Given the description of an element on the screen output the (x, y) to click on. 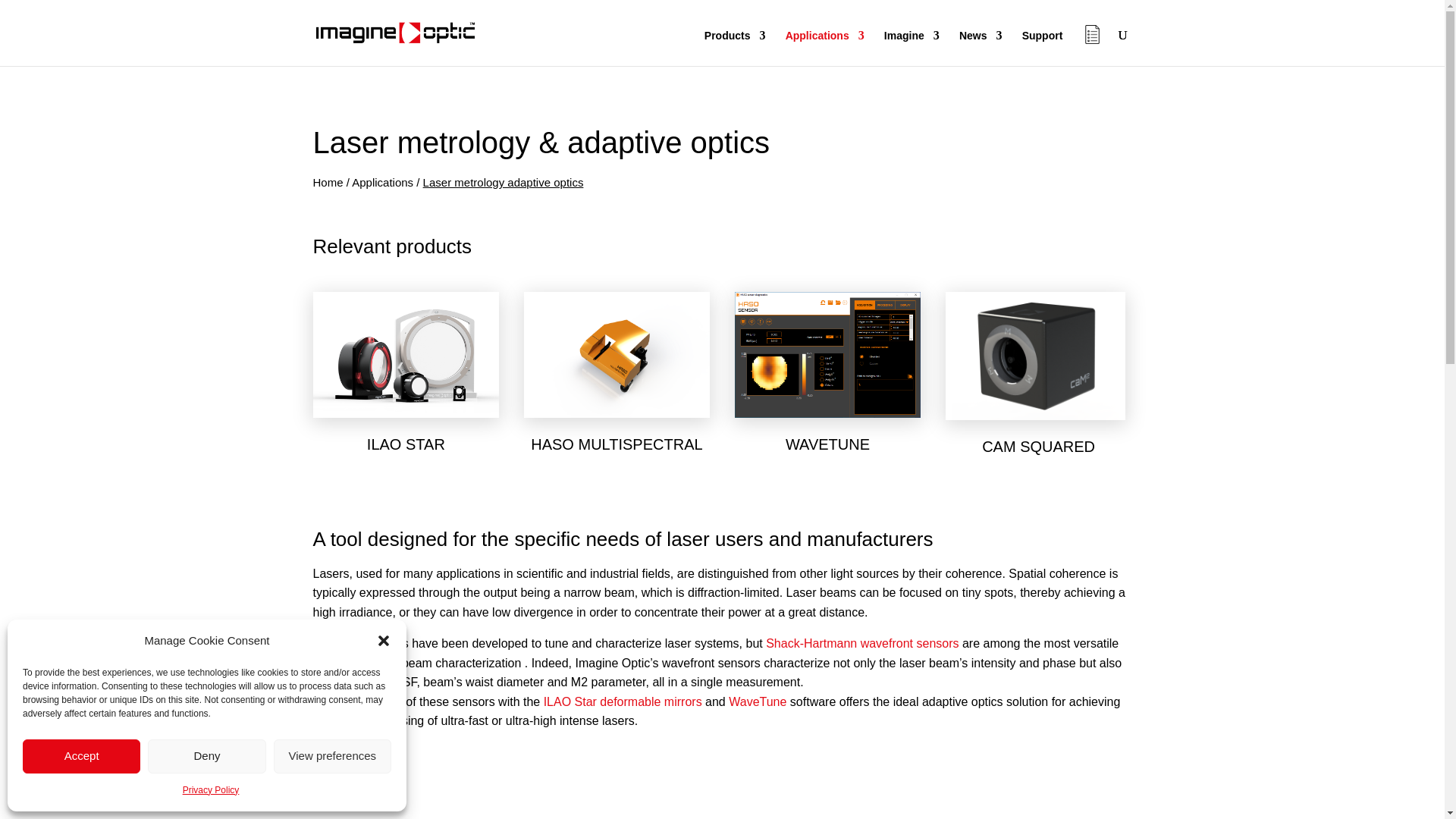
ilao-star-2 (406, 354)
Products (734, 48)
HASO Multispectral 2 (617, 353)
Privacy Policy (211, 790)
wavetune-WF-windows (828, 354)
Deny (206, 755)
Accept (81, 755)
View preferences (332, 755)
